Given the description of an element on the screen output the (x, y) to click on. 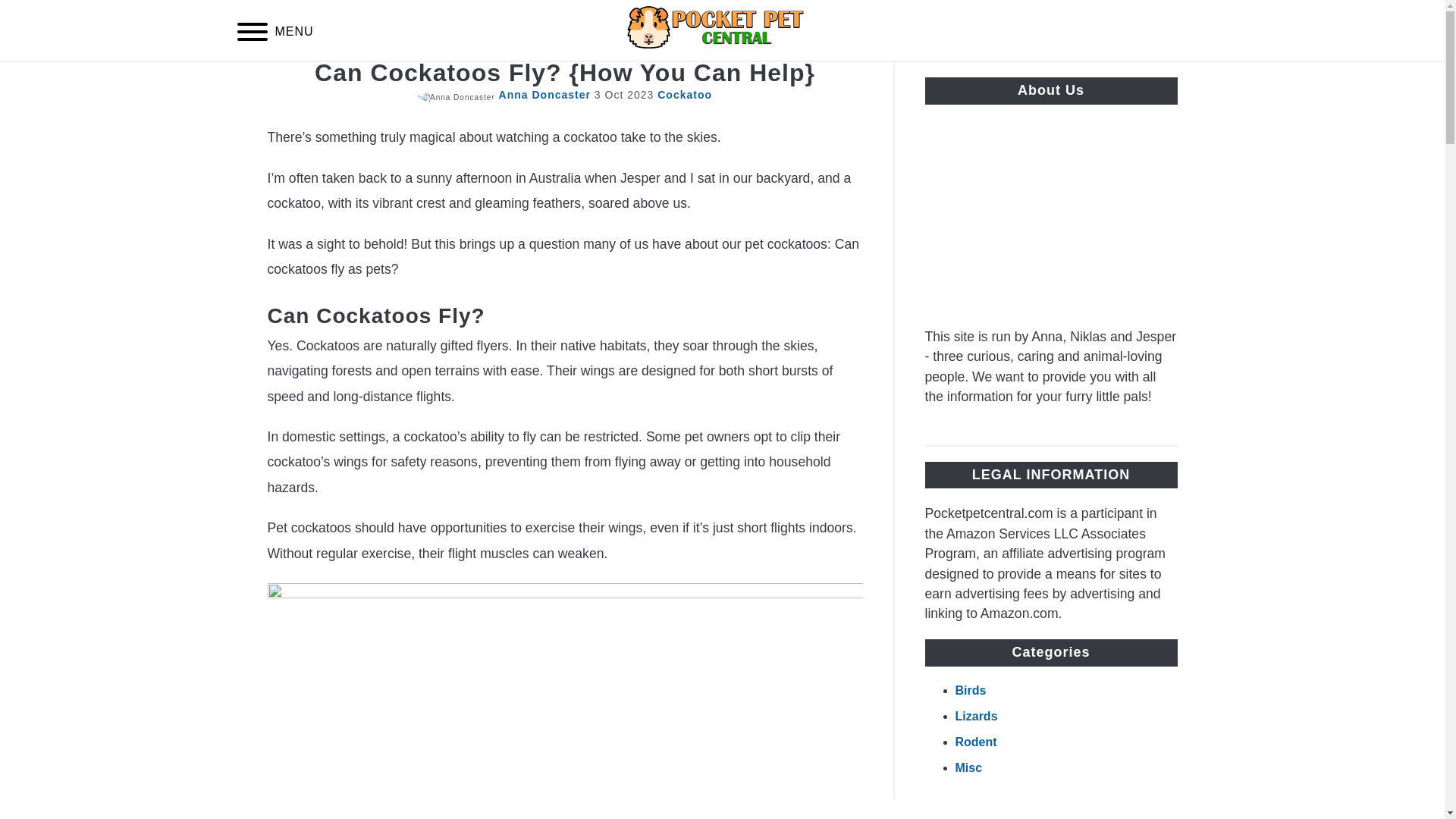
MENU (251, 34)
CONTACT US (976, 79)
BIRDS (518, 79)
Search (1203, 30)
Anna Doncaster (545, 94)
Cockatoo (684, 94)
RODENT (768, 79)
MISC (687, 79)
HOME (444, 79)
LIZARDS (604, 79)
ABOUT US (866, 79)
